Given the description of an element on the screen output the (x, y) to click on. 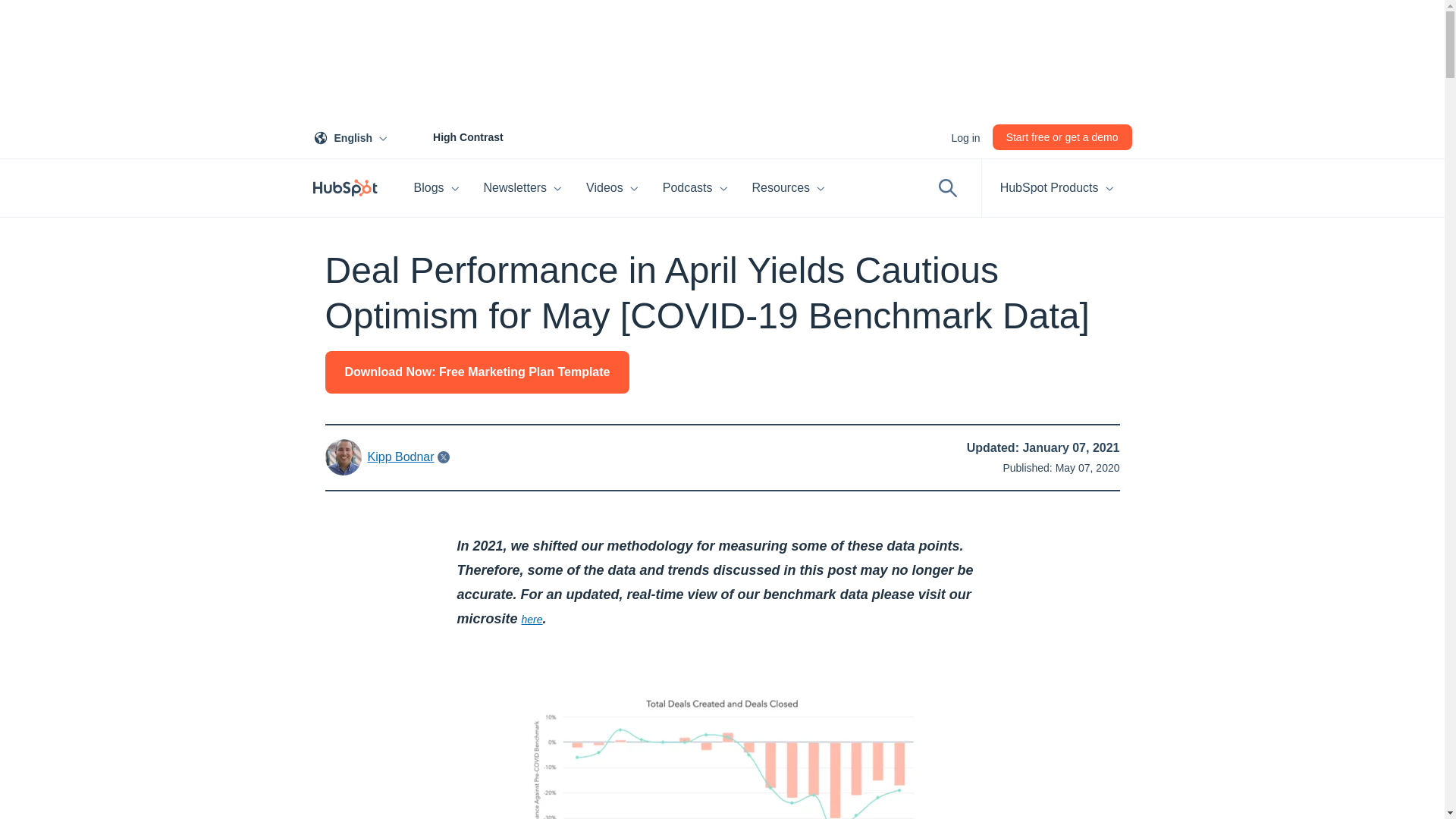
Blogs (436, 187)
Start free or get a demo (1062, 136)
High Contrast (450, 137)
Videos (611, 187)
Newsletters (523, 187)
Log in (353, 136)
